Given the description of an element on the screen output the (x, y) to click on. 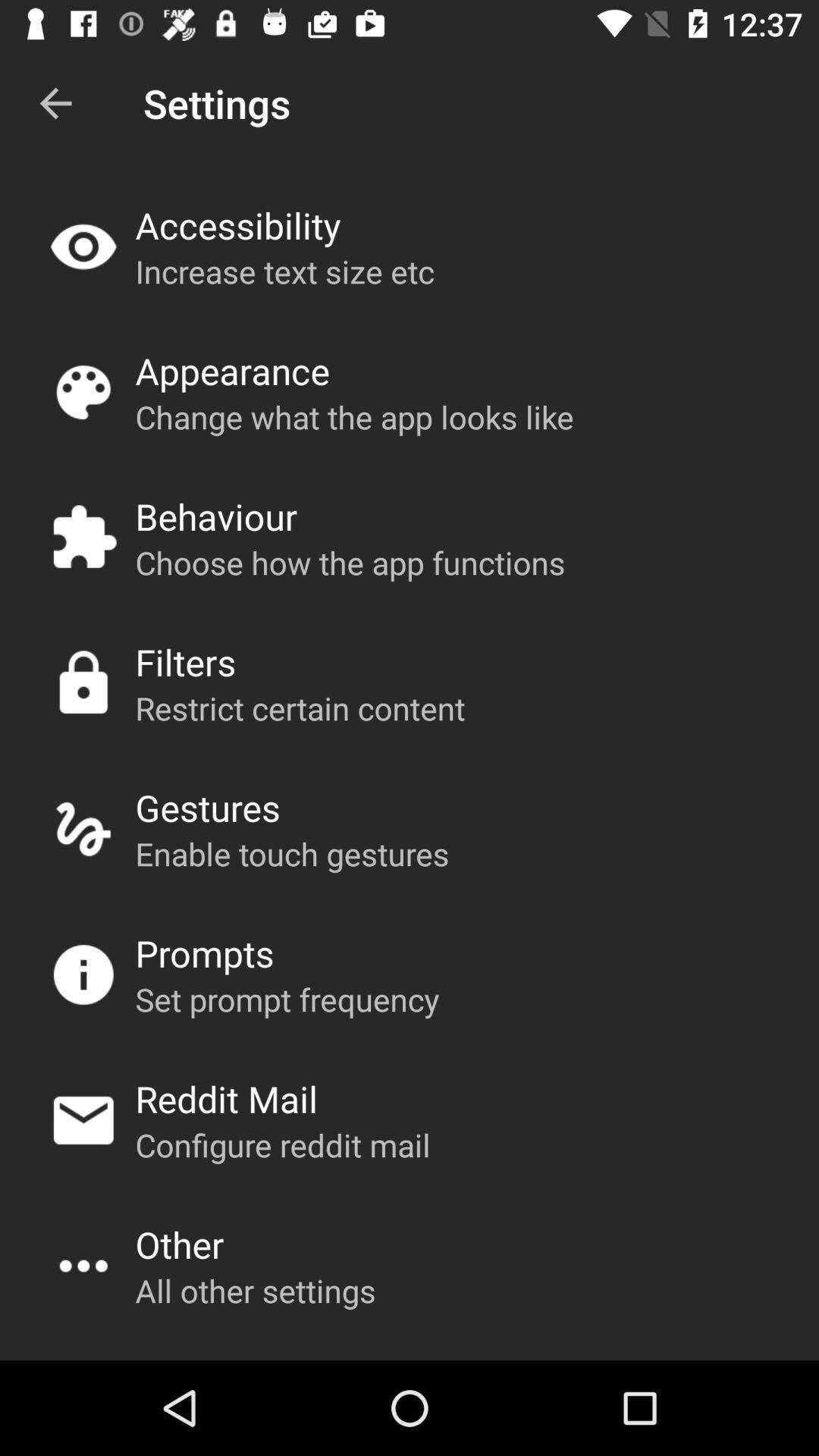
select app above appearance app (284, 270)
